Given the description of an element on the screen output the (x, y) to click on. 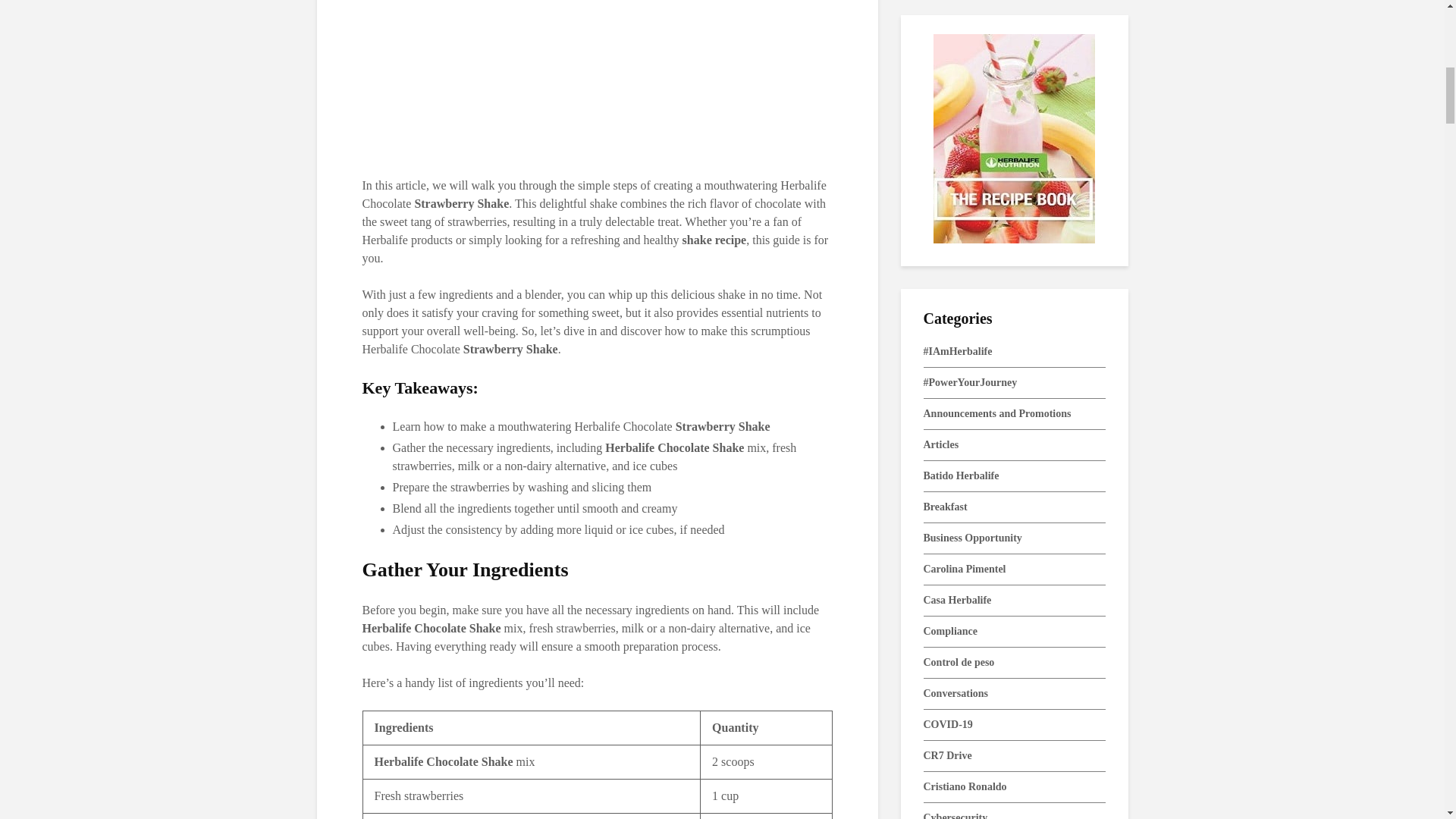
Become a Preferred Member (597, 74)
